Given the description of an element on the screen output the (x, y) to click on. 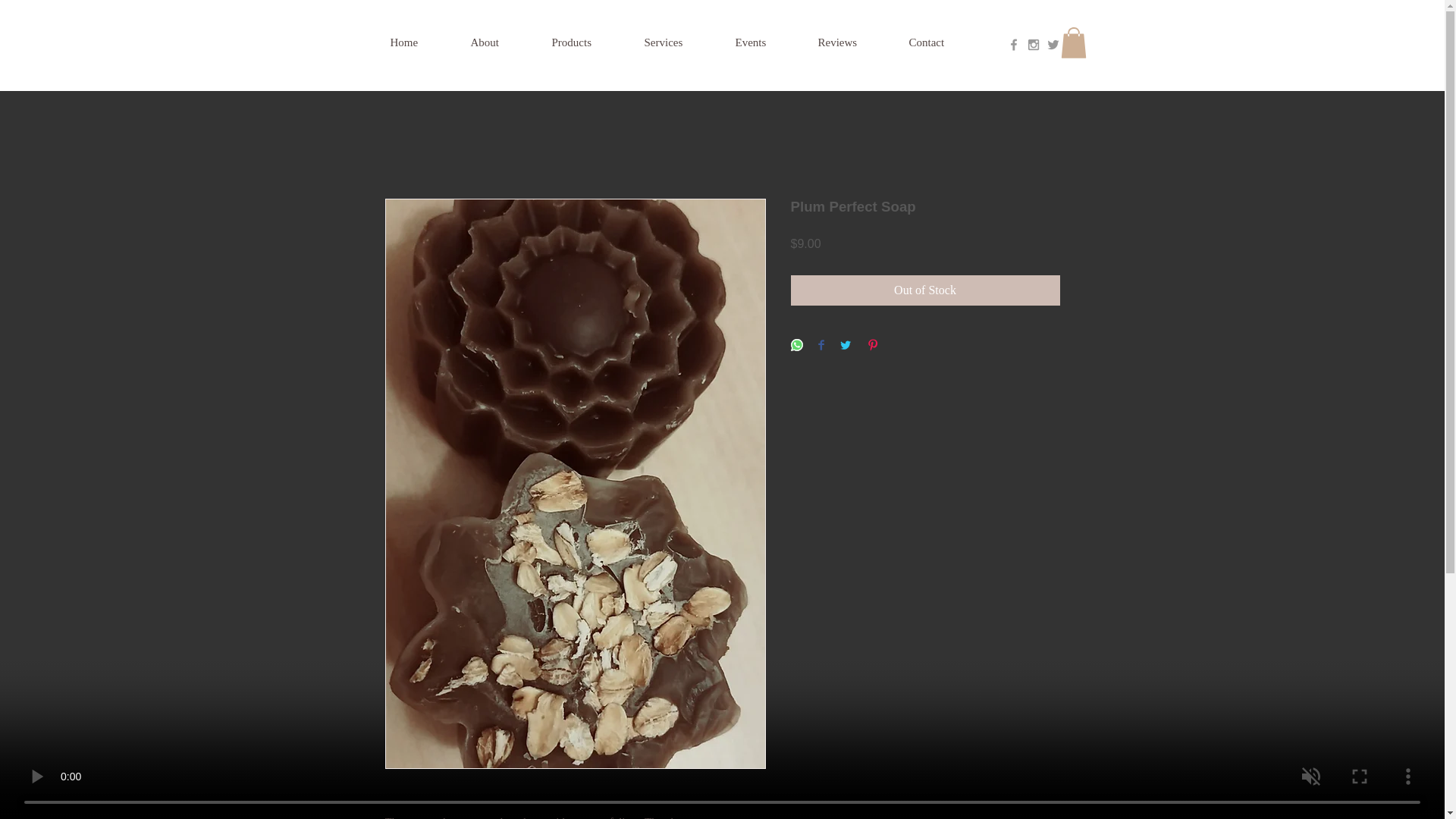
Out of Stock (924, 290)
Home (422, 42)
About (503, 42)
Contact (944, 42)
Products (590, 42)
Events (769, 42)
Reviews (855, 42)
Services (682, 42)
